Given the description of an element on the screen output the (x, y) to click on. 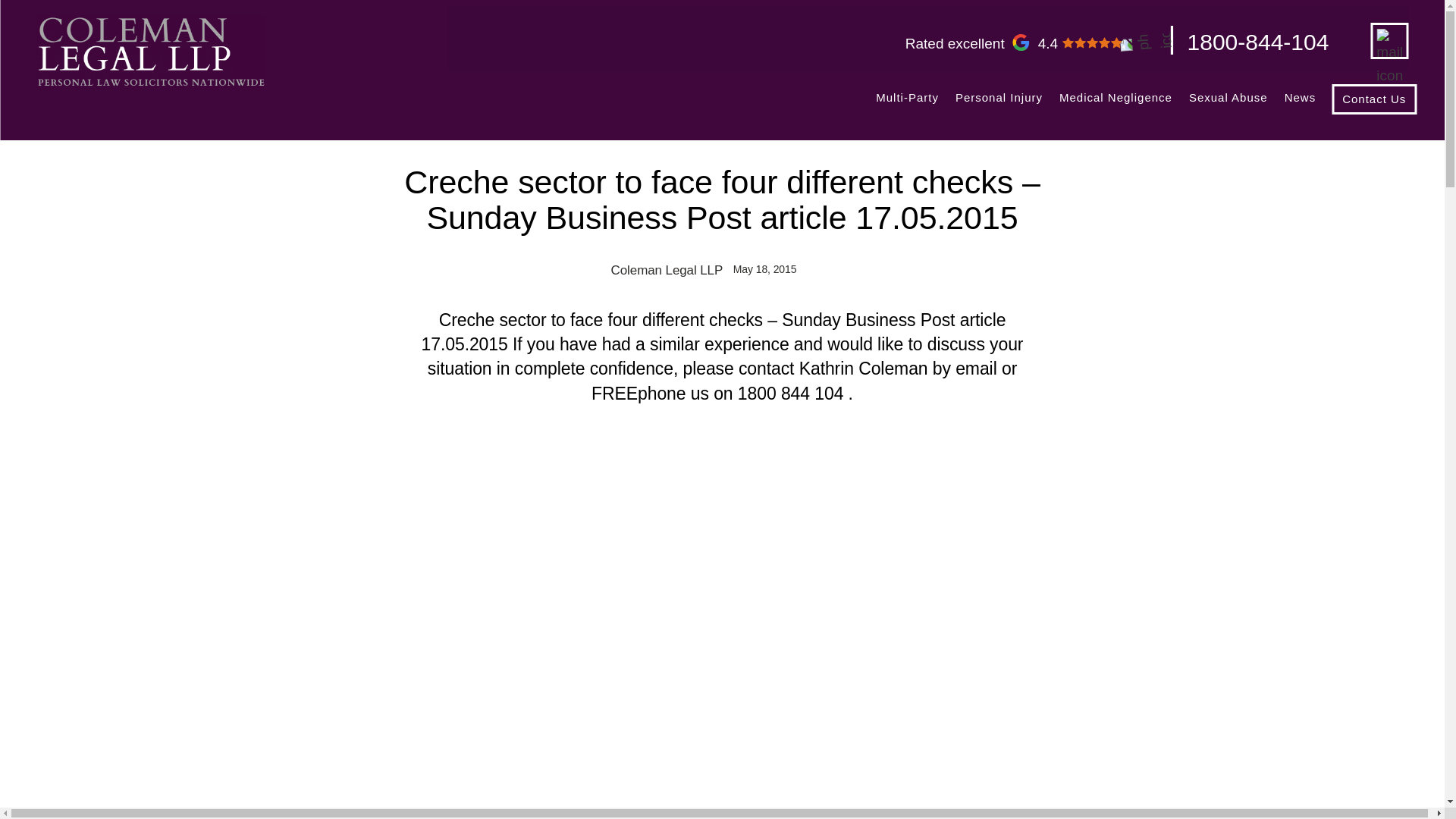
1800-844-104 (1258, 41)
Multi-Party (1023, 38)
Personal Injury (907, 103)
Coleman Legal LLP LOGO (998, 103)
